Given the description of an element on the screen output the (x, y) to click on. 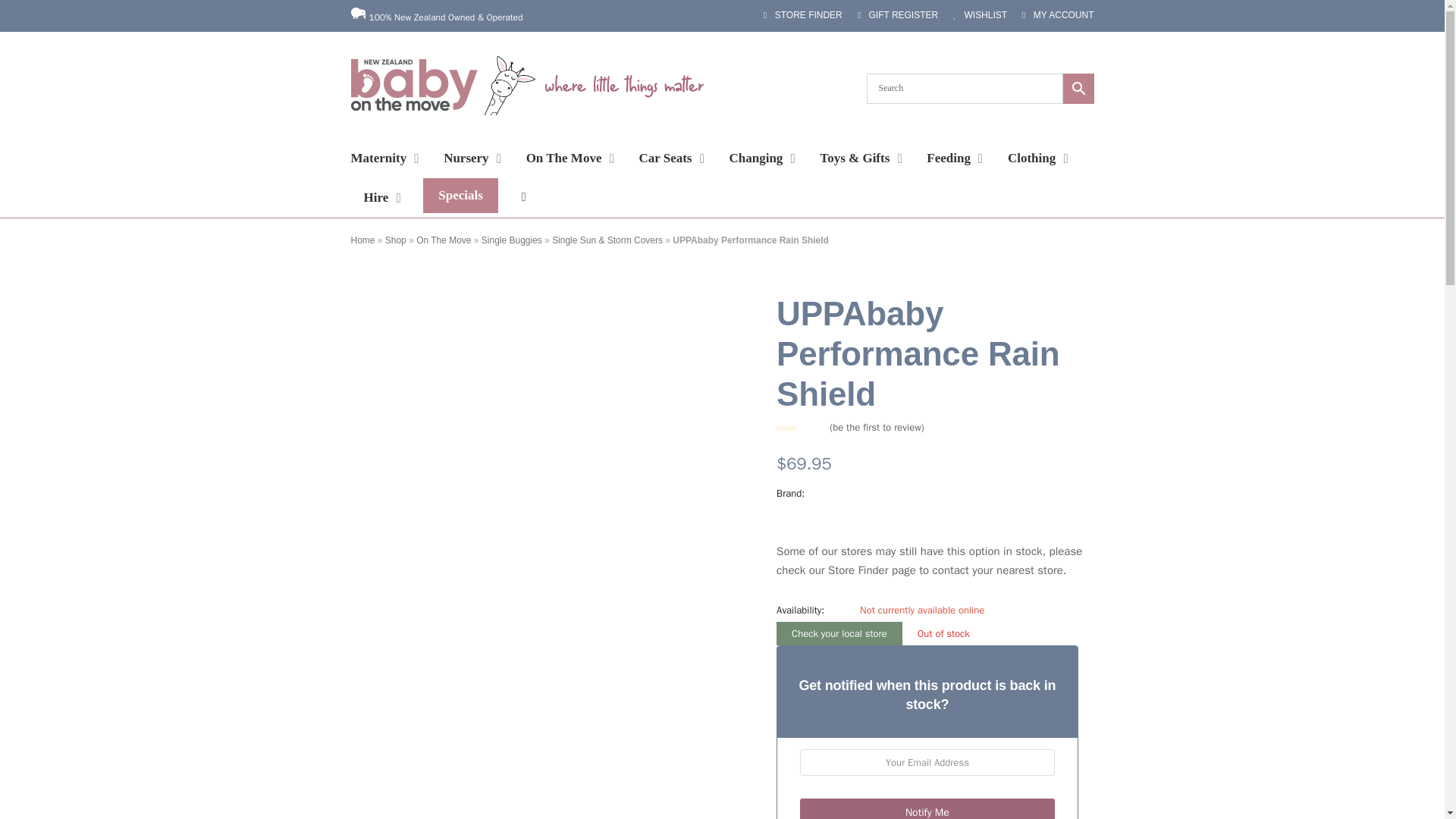
STORE FINDER (802, 14)
UPPAbaby (832, 517)
Nursery (471, 157)
MY ACCOUNT (1057, 14)
Notify Me (926, 808)
GIFT REGISTER (897, 14)
WISHLIST (980, 14)
Maternity (385, 157)
